Given the description of an element on the screen output the (x, y) to click on. 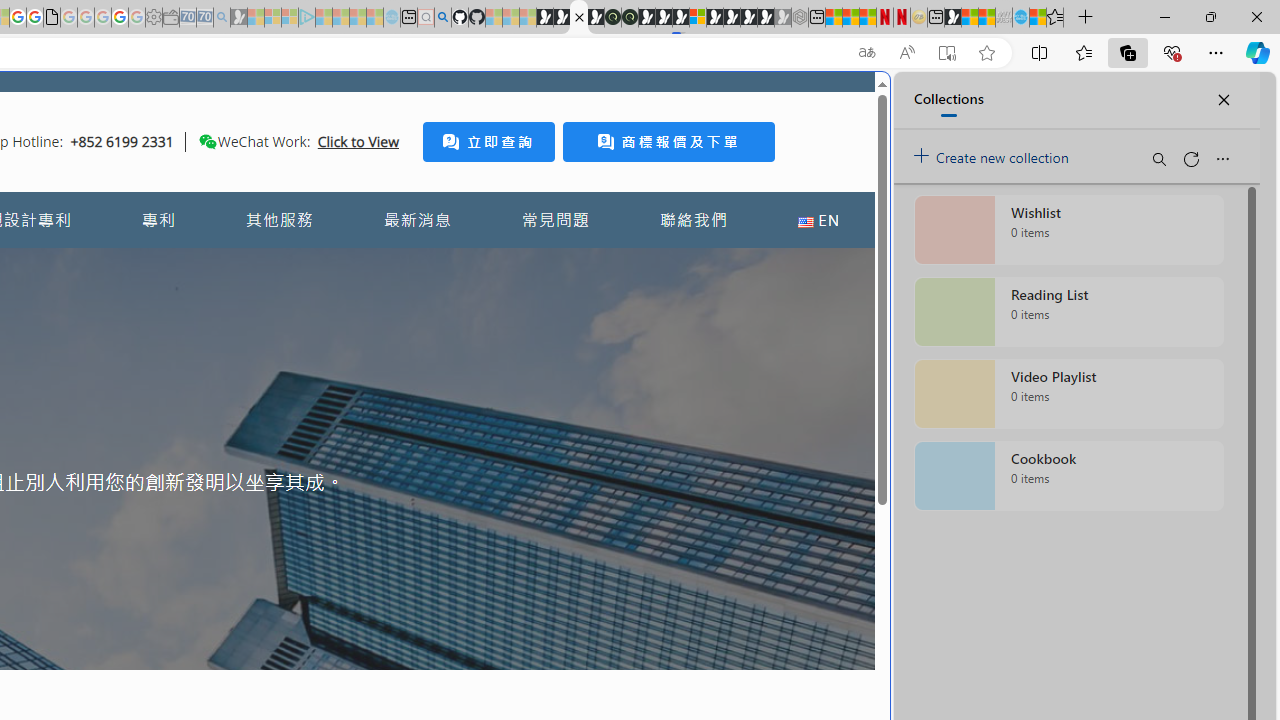
google_privacy_policy_zh-CN.pdf (51, 17)
Future Focus Report 2024 (629, 17)
Home | Sky Blue Bikes - Sky Blue Bikes - Sleeping (392, 17)
Show translate options (867, 53)
